Given the description of an element on the screen output the (x, y) to click on. 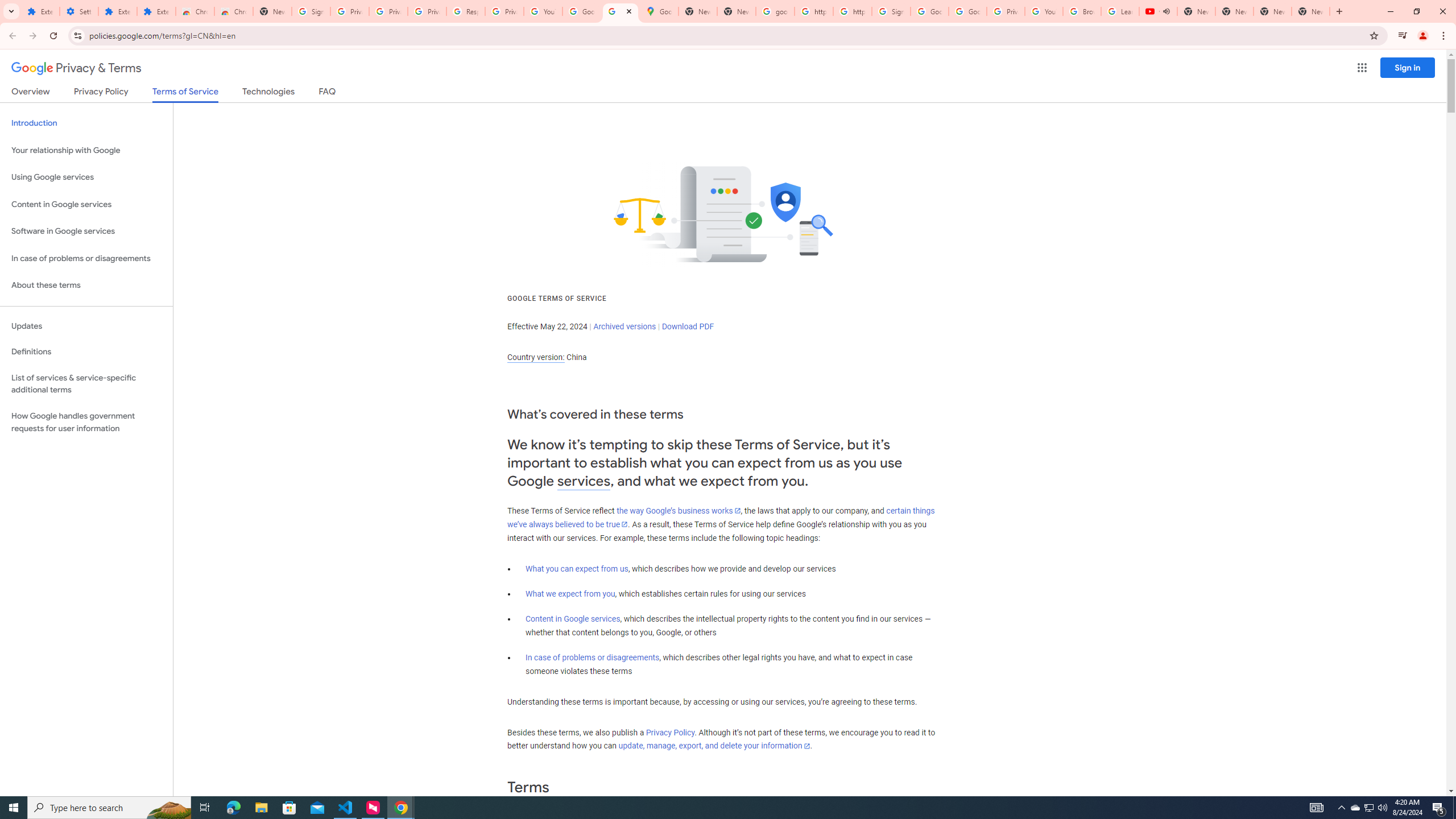
Definitions (86, 352)
